Given the description of an element on the screen output the (x, y) to click on. 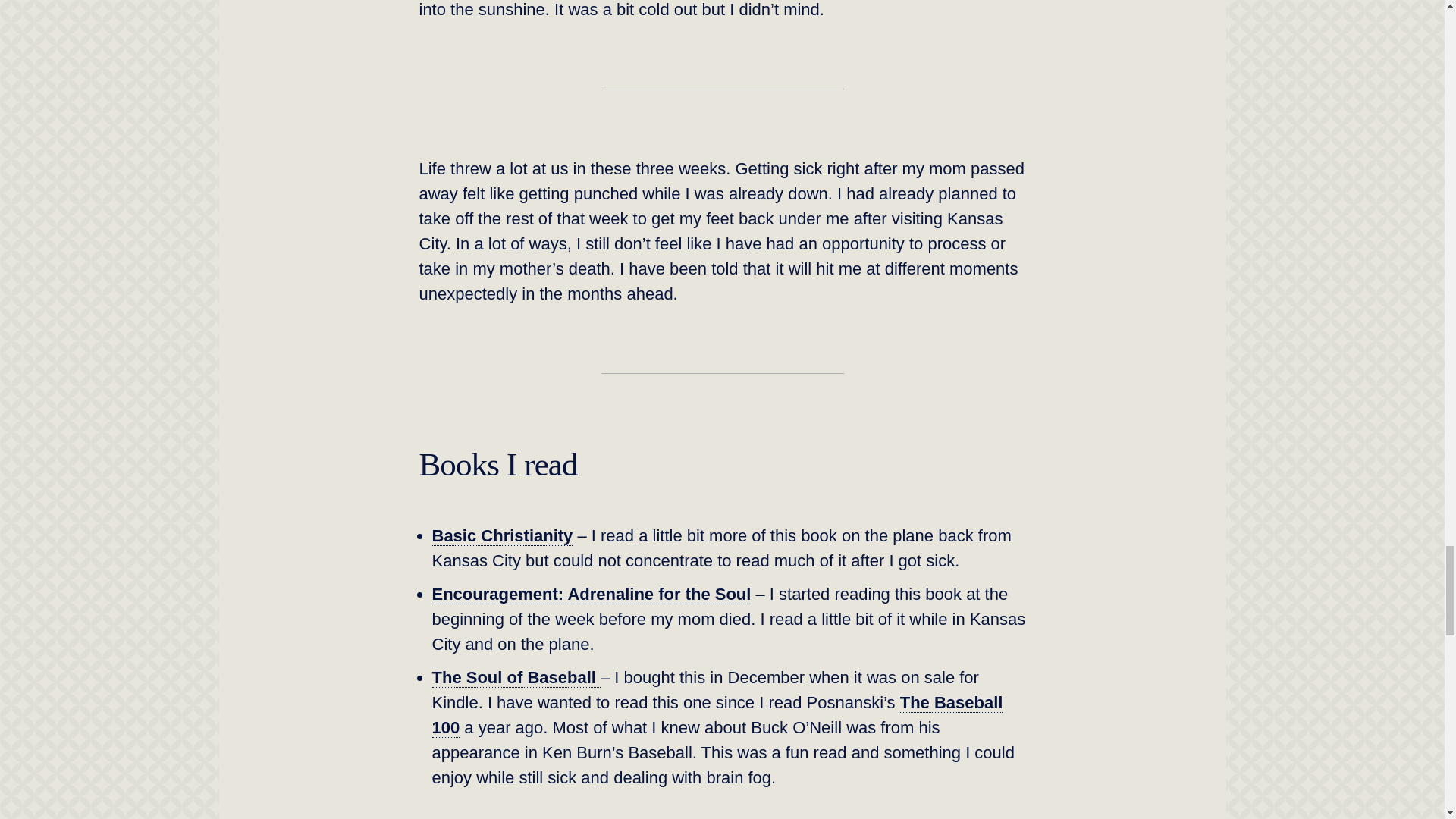
Basic Christianity (502, 536)
The Baseball 100 (717, 714)
The Soul of Baseball (515, 677)
Encouragement: Adrenaline for the Soul (591, 594)
